Given the description of an element on the screen output the (x, y) to click on. 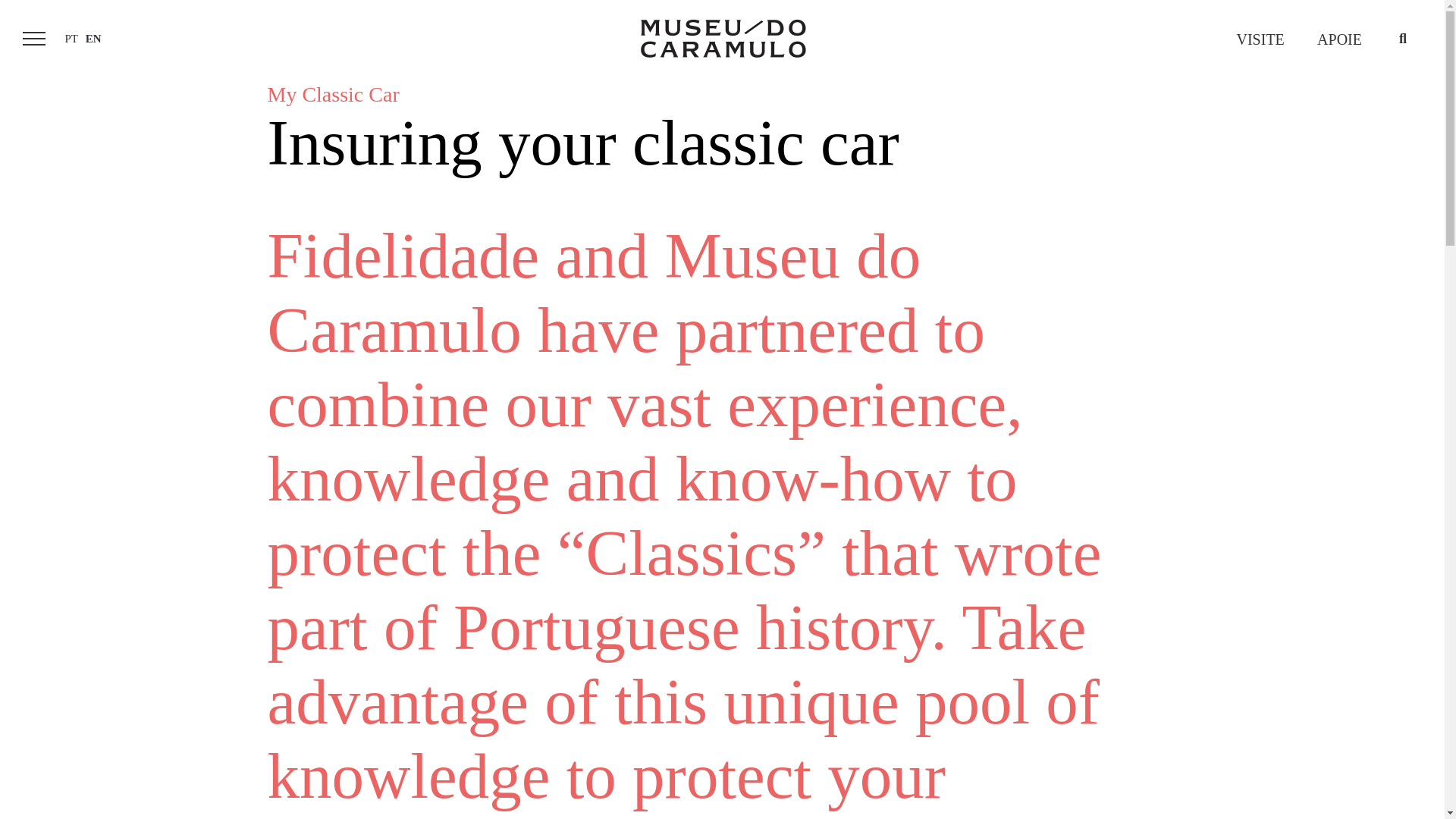
EN (92, 38)
APOIE (1339, 39)
PT (71, 38)
VISITE (1260, 39)
